Given the description of an element on the screen output the (x, y) to click on. 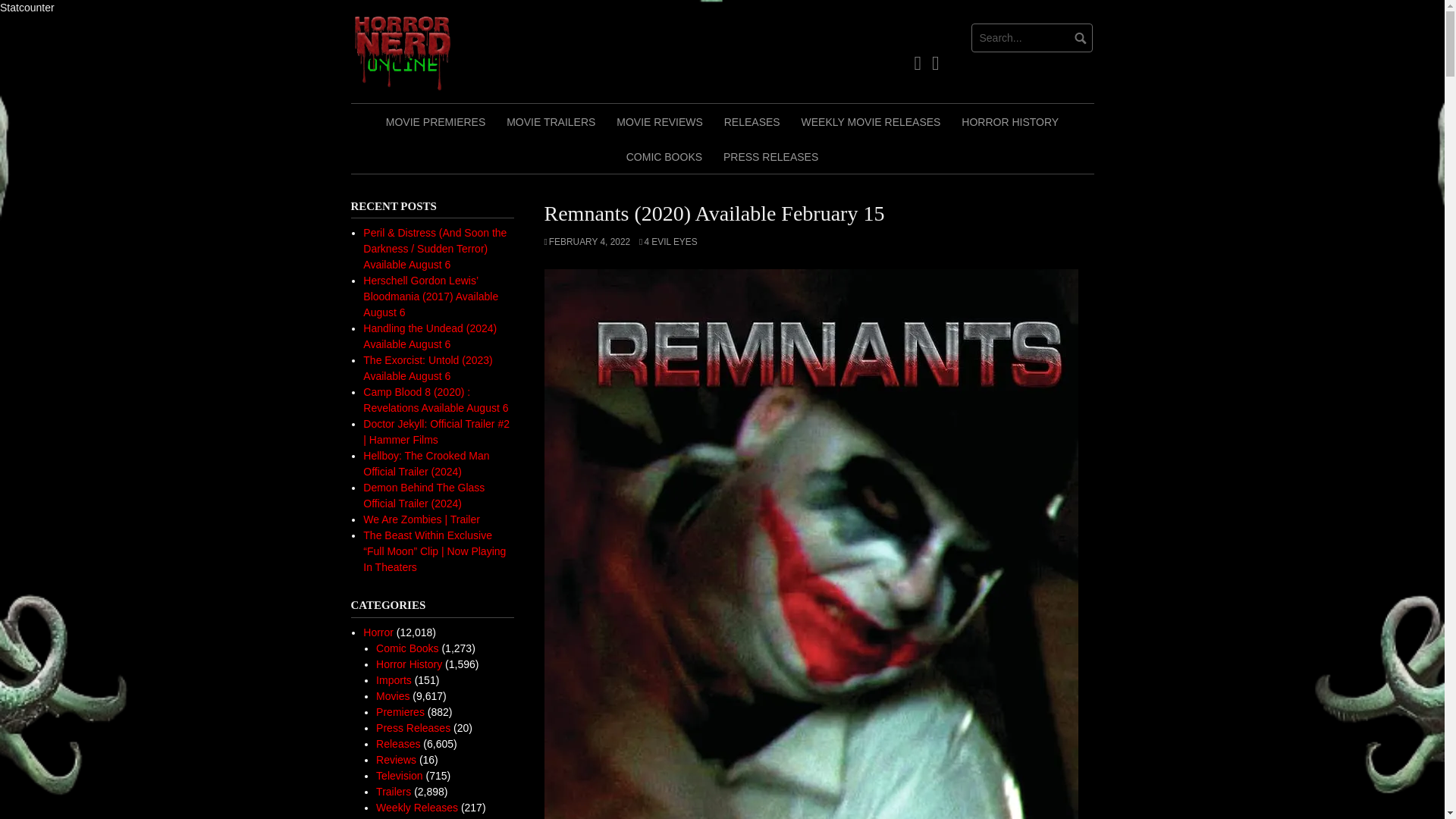
FEBRUARY 4, 2022 (587, 241)
RELEASES (751, 121)
HORROR HISTORY (1009, 121)
MOVIE PREMIERES (436, 121)
Statcounter (27, 7)
MOVIE TRAILERS (550, 121)
4 EVIL EYES (668, 241)
PRESS RELEASES (770, 155)
Search for: (1031, 37)
MOVIE REVIEWS (659, 121)
COMIC BOOKS (664, 155)
WEEKLY MOVIE RELEASES (871, 121)
